Given the description of an element on the screen output the (x, y) to click on. 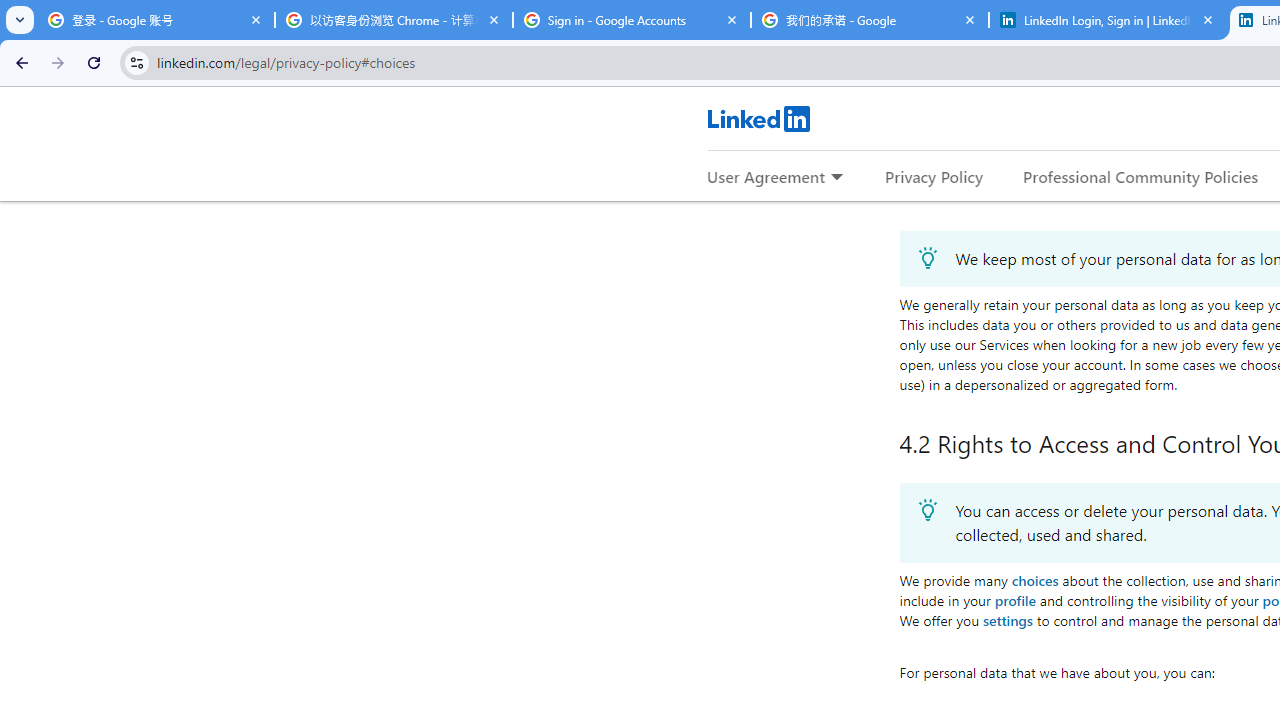
LinkedIn Login, Sign in | LinkedIn (1108, 20)
Expand to show more links for User Agreement (836, 178)
profile (1014, 599)
Professional Community Policies (1140, 176)
Sign in - Google Accounts (632, 20)
choices (1034, 579)
